Given the description of an element on the screen output the (x, y) to click on. 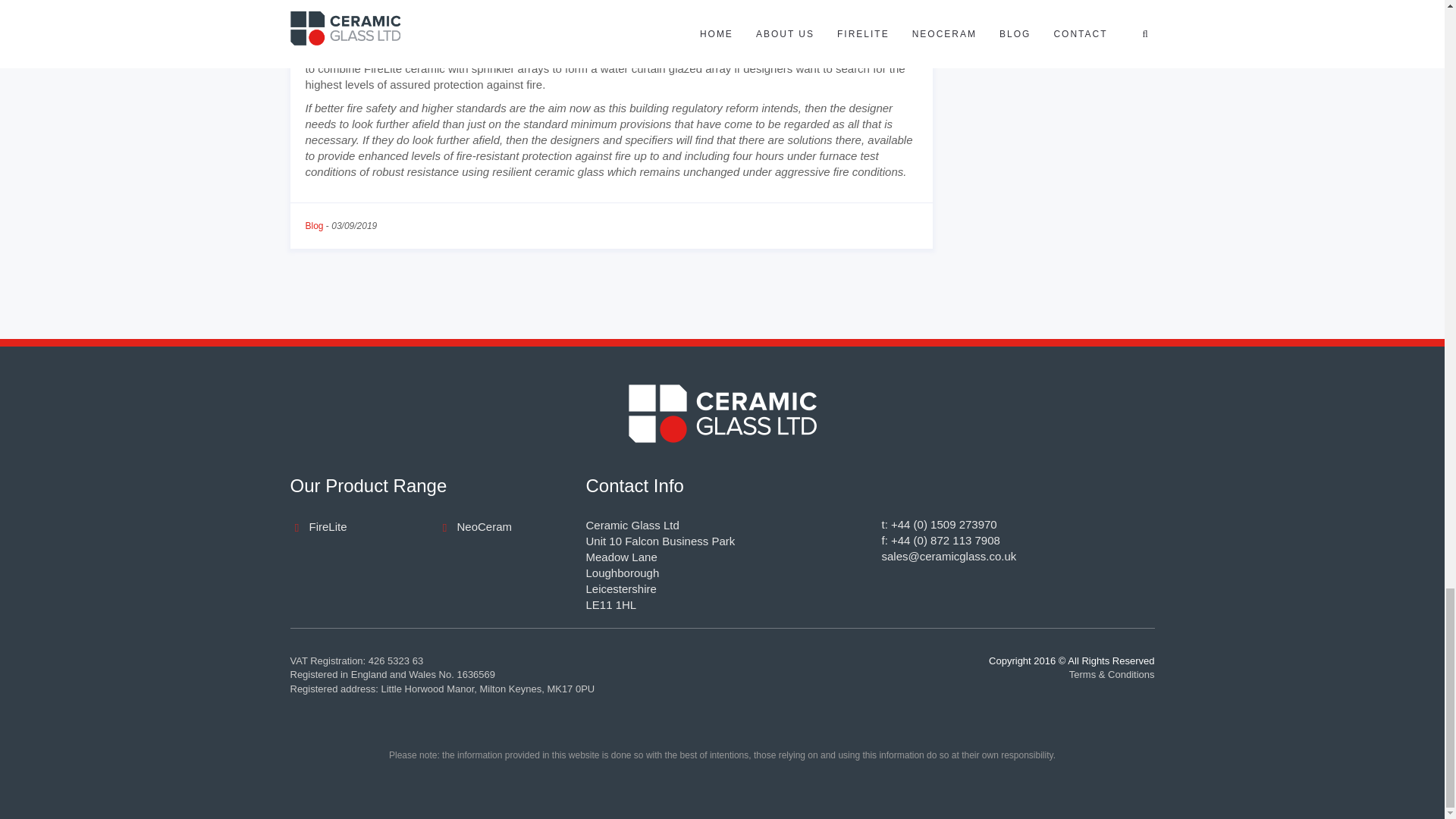
Blog (313, 225)
